Given the description of an element on the screen output the (x, y) to click on. 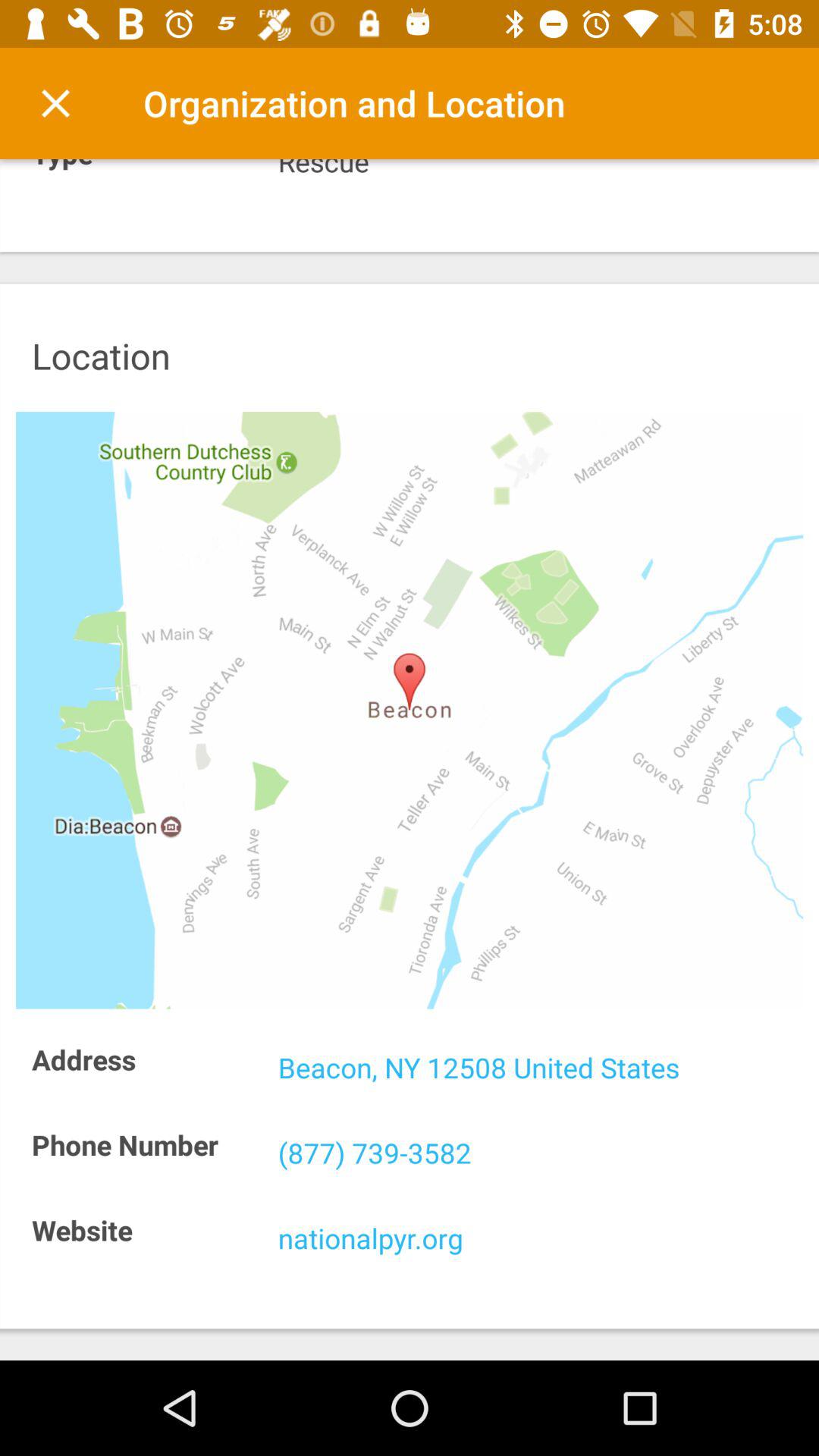
launch the icon to the left of the organization and location item (55, 103)
